Given the description of an element on the screen output the (x, y) to click on. 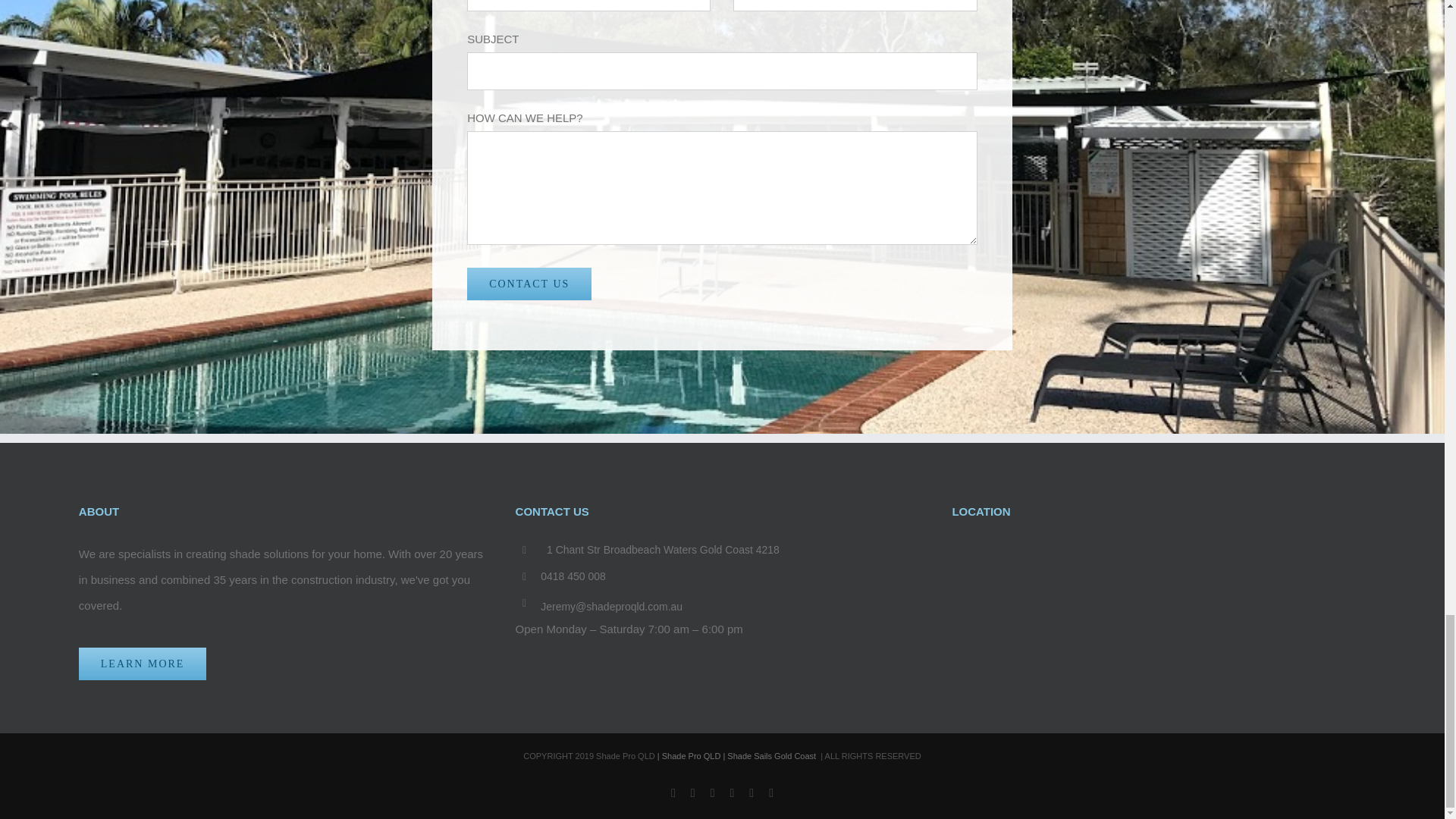
CONTACT US (529, 283)
LEARN MORE (142, 663)
CONTACT US (529, 283)
